Given the description of an element on the screen output the (x, y) to click on. 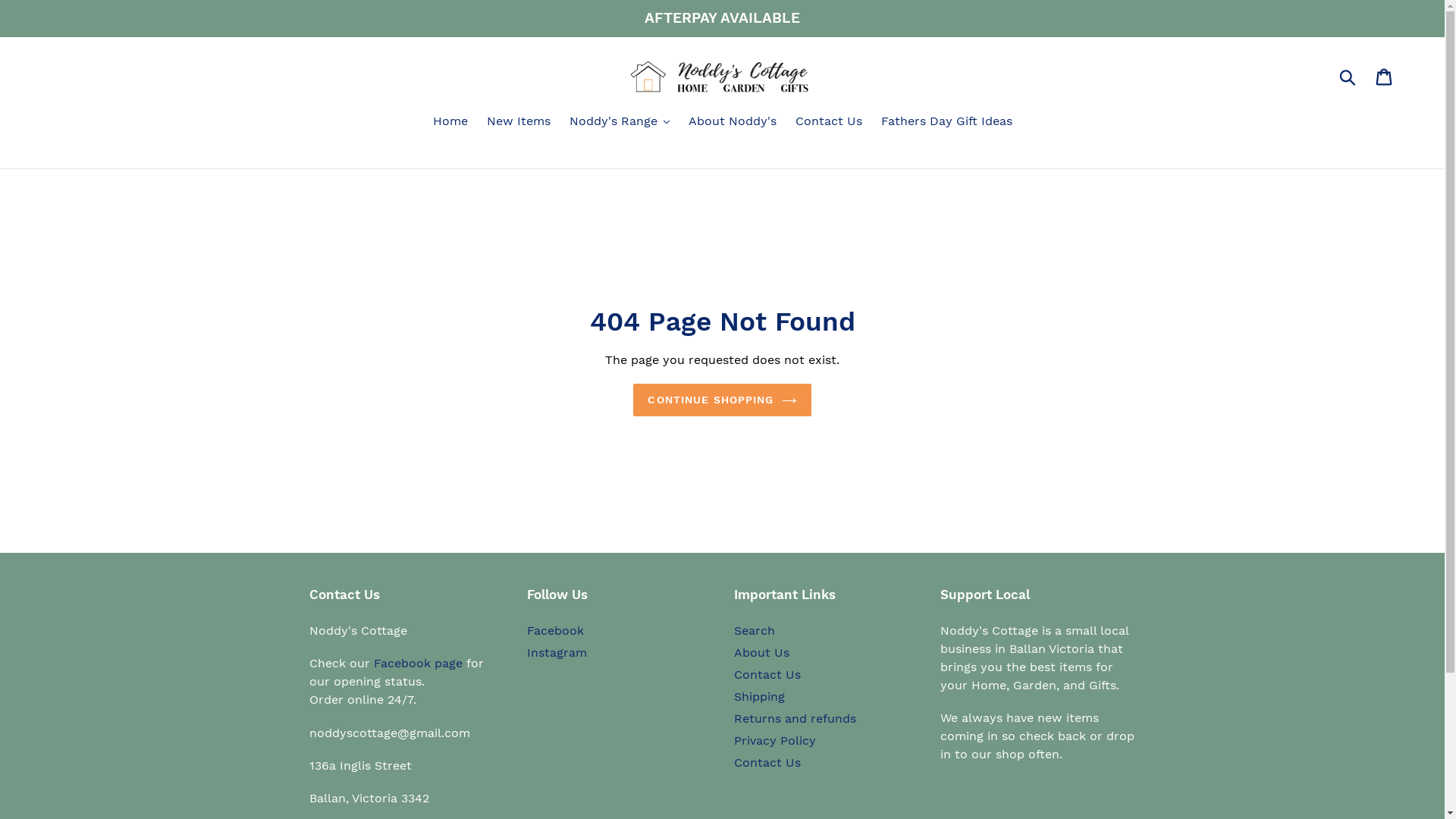
Facebook Element type: text (555, 630)
Shipping Element type: text (759, 696)
Search Element type: text (754, 630)
About Noddy's Element type: text (732, 122)
Home Element type: text (449, 122)
CONTINUE SHOPPING Element type: text (721, 399)
Instagram Element type: text (556, 652)
Contact Us Element type: text (767, 762)
Fathers Day Gift Ideas Element type: text (946, 122)
Cart Element type: text (1384, 76)
Submit Element type: text (1348, 76)
Contact Us Element type: text (828, 122)
New Items Element type: text (518, 122)
Facebook page Element type: text (417, 662)
About Us Element type: text (761, 652)
Privacy Policy Element type: text (774, 740)
Contact Us Element type: text (767, 674)
Returns and refunds Element type: text (795, 718)
